Given the description of an element on the screen output the (x, y) to click on. 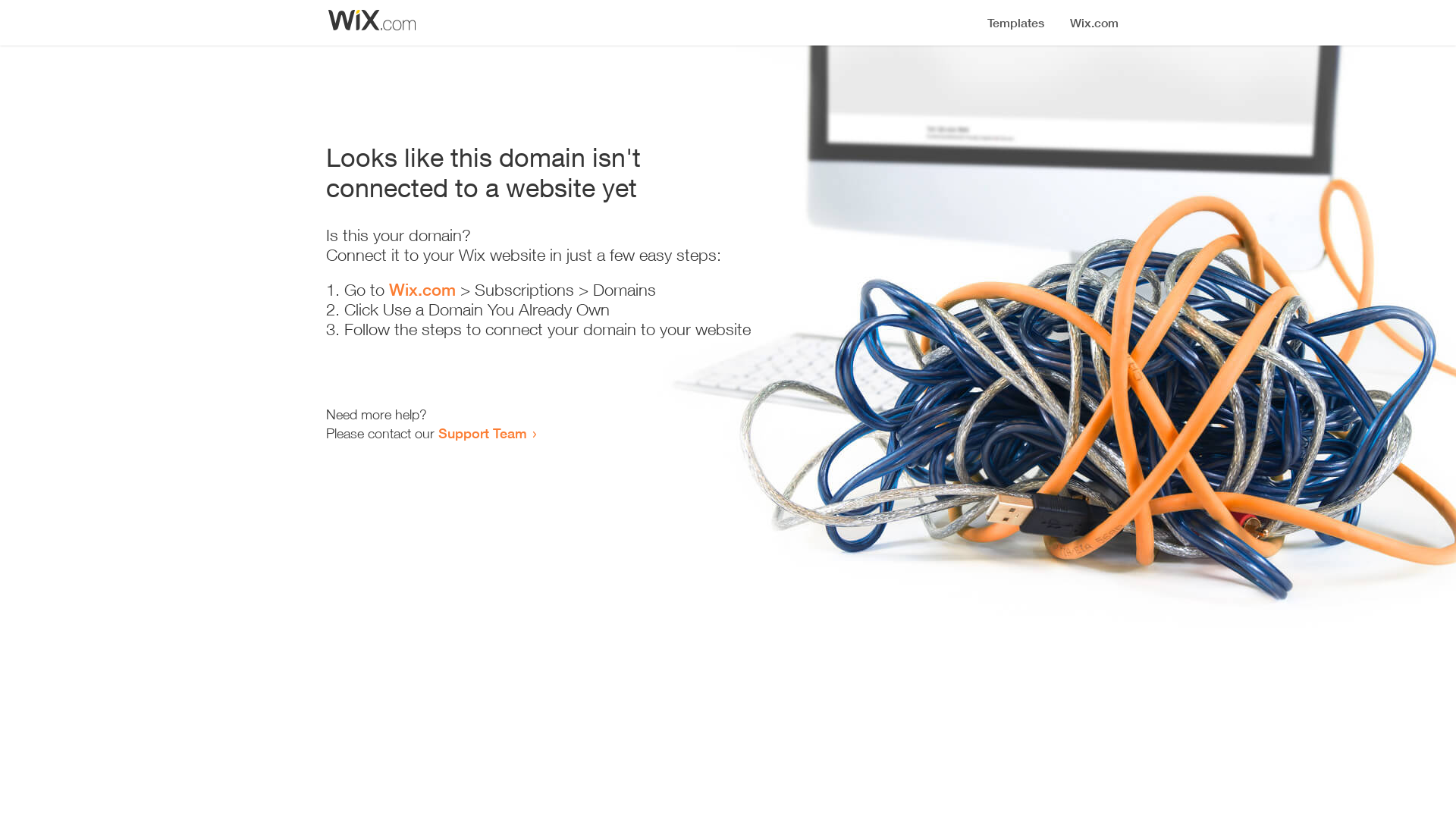
Wix.com Element type: text (422, 289)
Support Team Element type: text (482, 432)
